Given the description of an element on the screen output the (x, y) to click on. 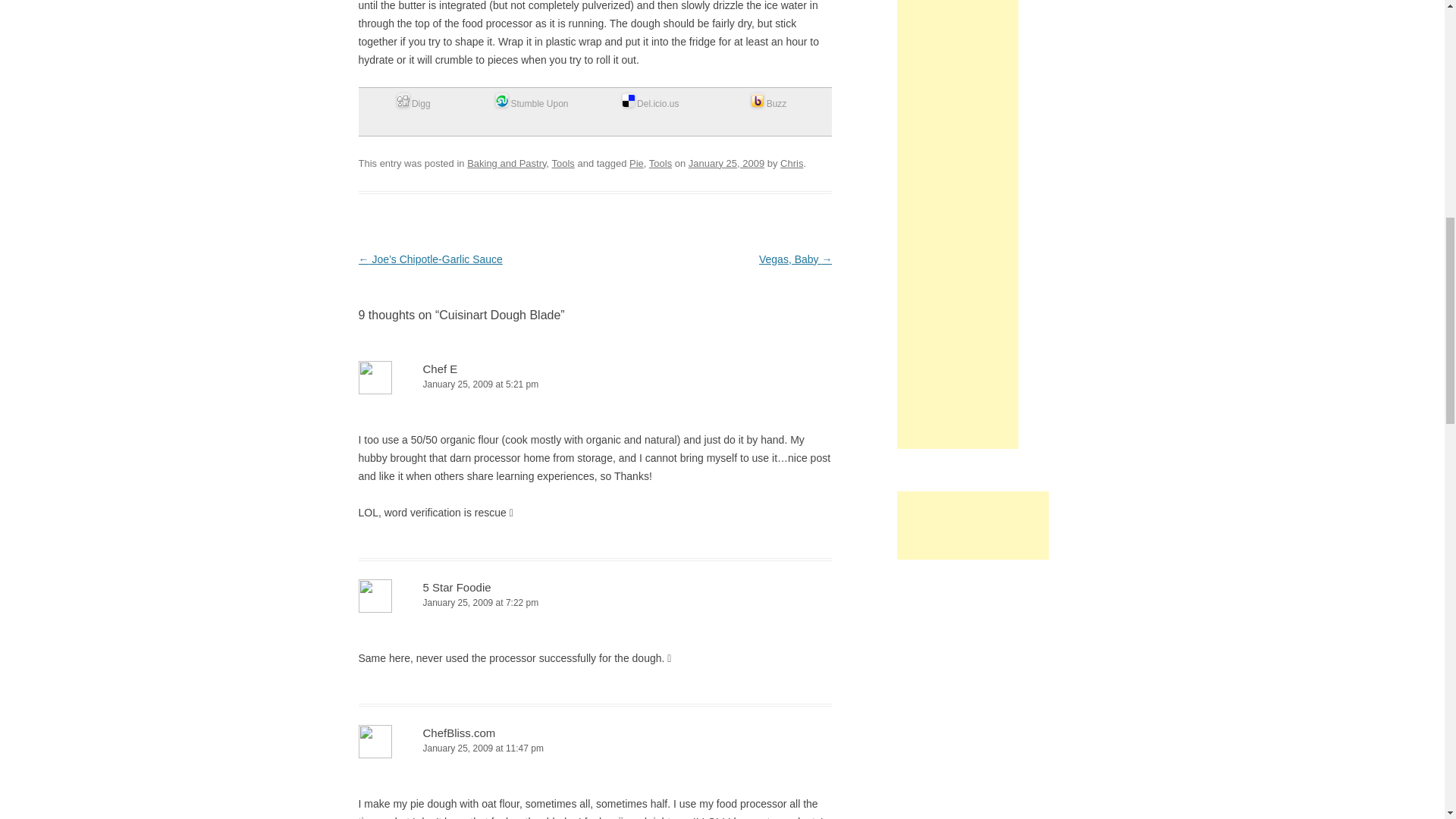
3:19 pm (726, 163)
Submit To Yahoo! Buzz (768, 103)
Submit To Digg (413, 103)
Stumble Upon (531, 103)
January 25, 2009 at 7:22 pm (594, 602)
Chris (791, 163)
Tools (563, 163)
Tools (660, 163)
Pie (635, 163)
January 25, 2009 (726, 163)
